Given the description of an element on the screen output the (x, y) to click on. 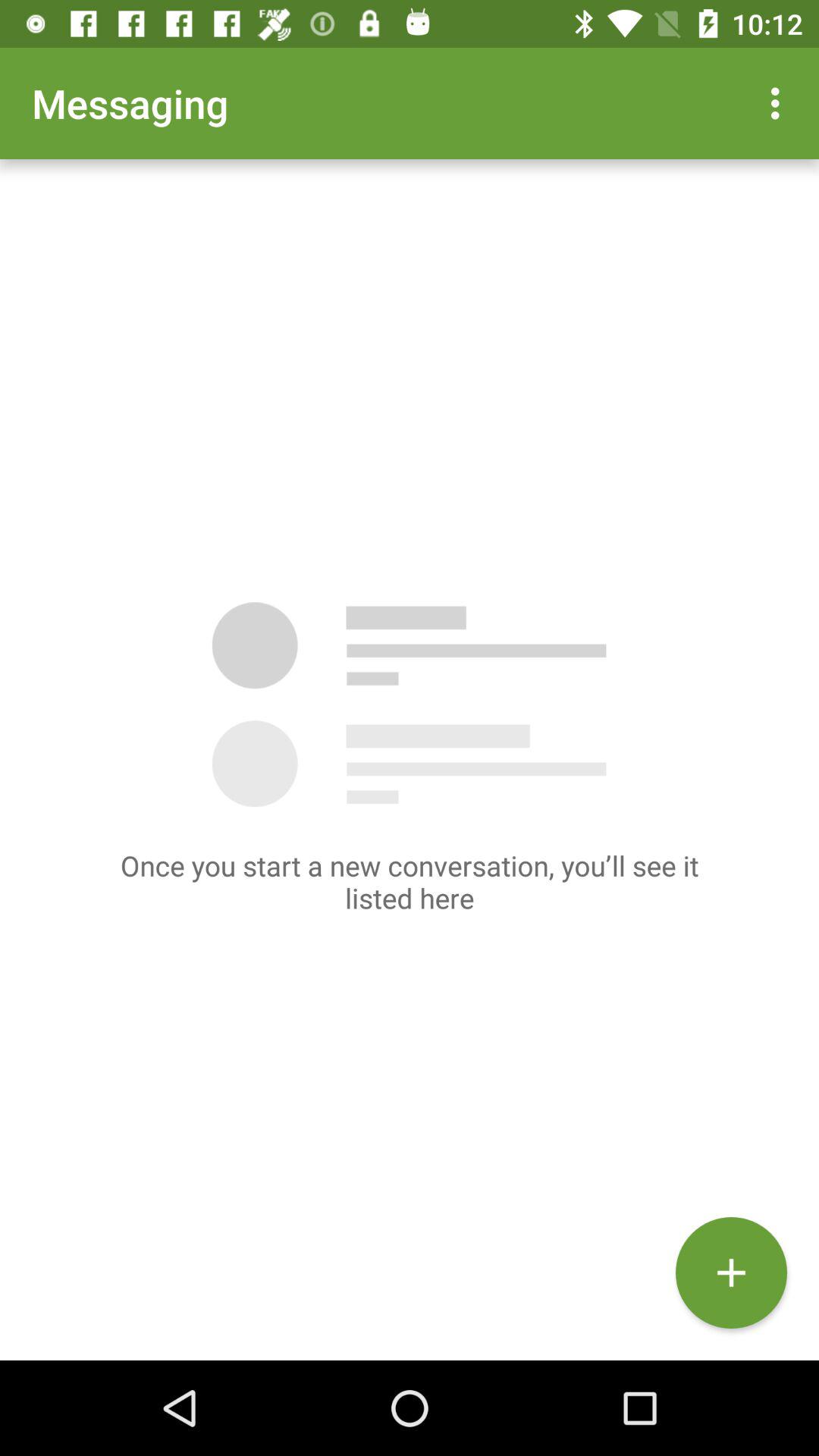
turn on the app to the right of messaging app (779, 103)
